Given the description of an element on the screen output the (x, y) to click on. 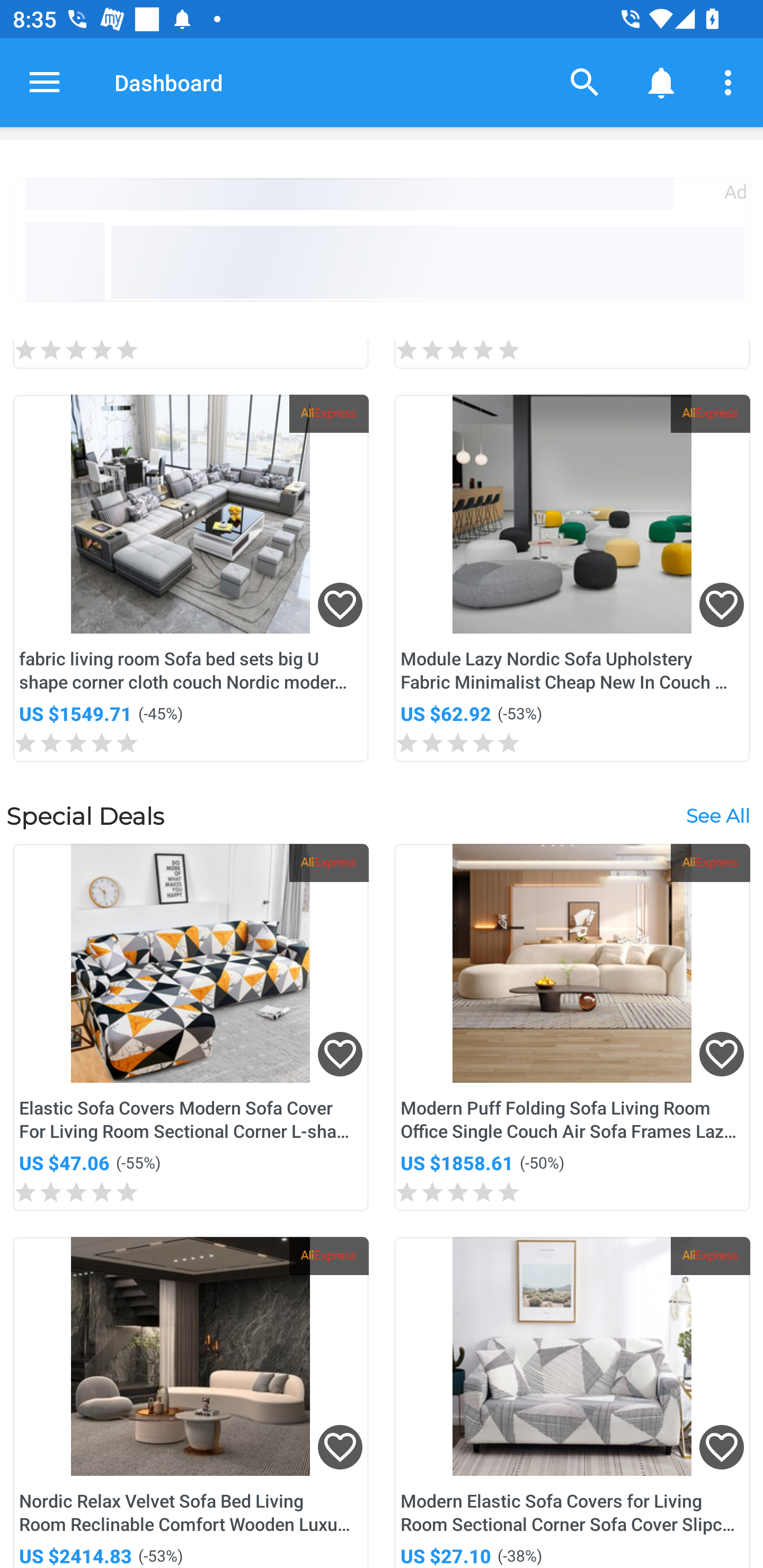
Open navigation drawer (44, 82)
Search (585, 81)
More options (731, 81)
0.0 (190, 354)
0.0 (572, 354)
See All (717, 814)
